Given the description of an element on the screen output the (x, y) to click on. 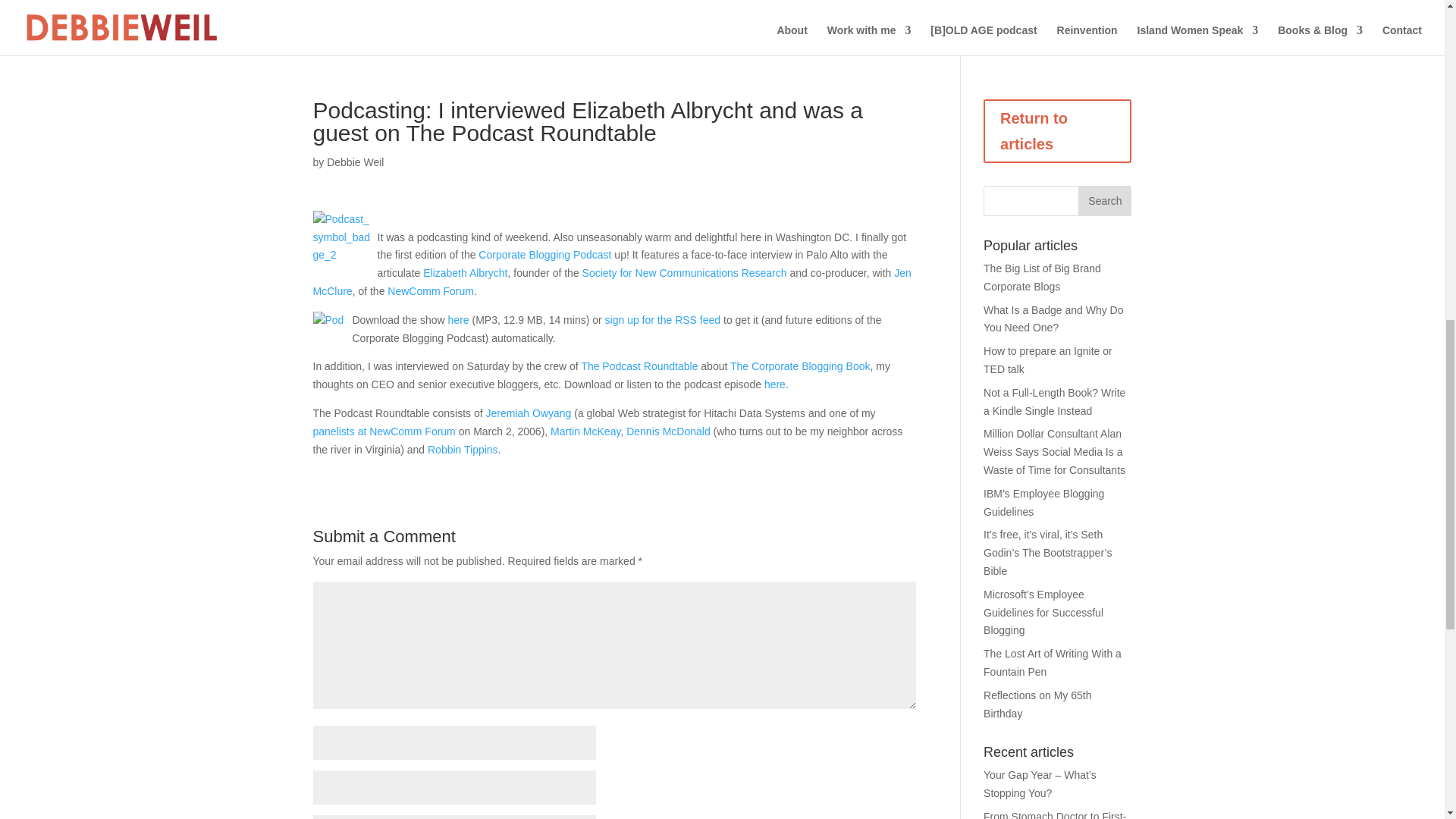
Search (1104, 200)
About (791, 40)
Posts by Debbie Weil (355, 162)
Work with me (869, 40)
Debbie Weil (355, 162)
Island Women Speak (1198, 40)
Contact (1401, 40)
Reinvention (1087, 40)
